Given the description of an element on the screen output the (x, y) to click on. 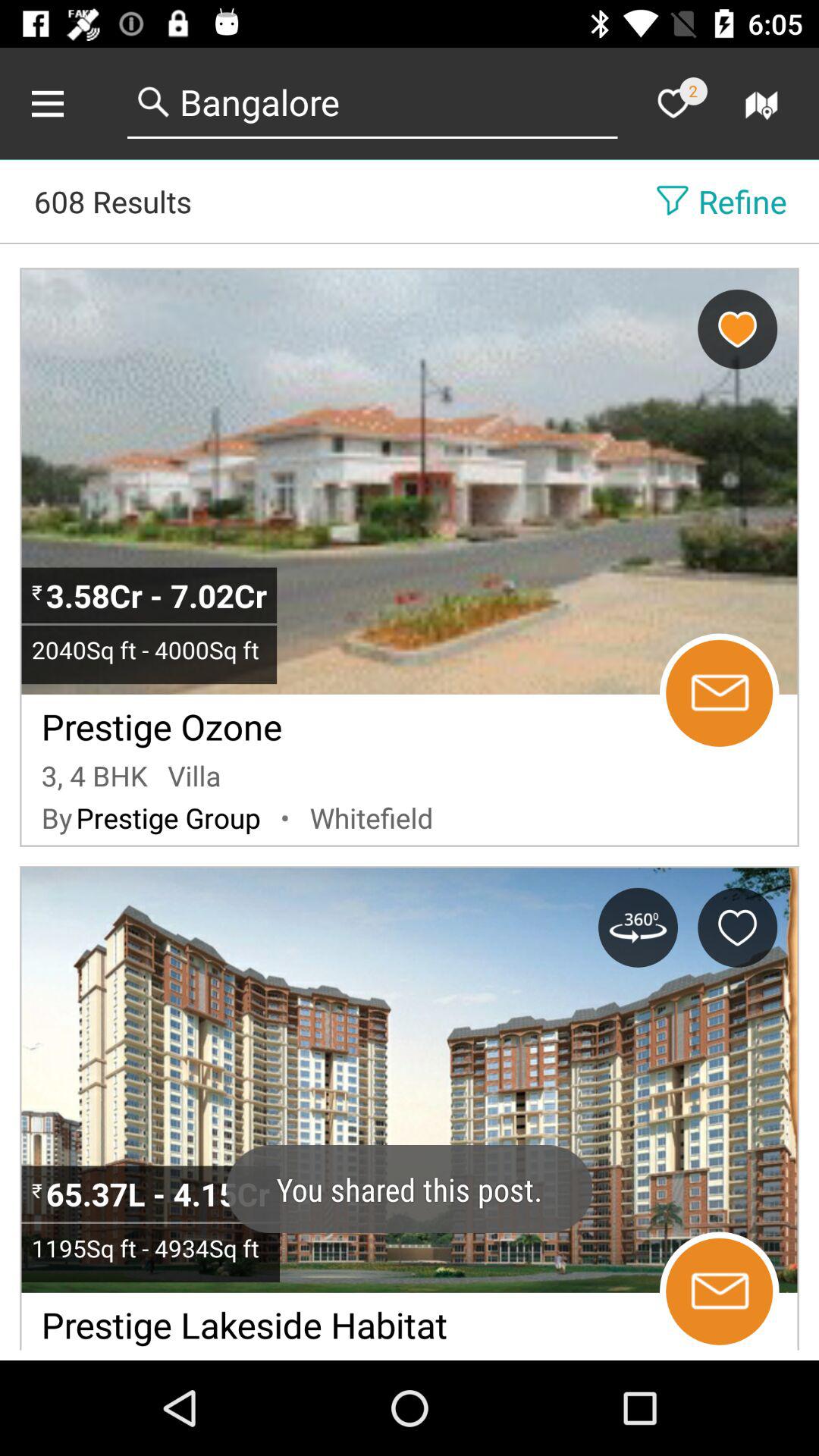
select item below the 3, 4 bhk item (56, 817)
